Given the description of an element on the screen output the (x, y) to click on. 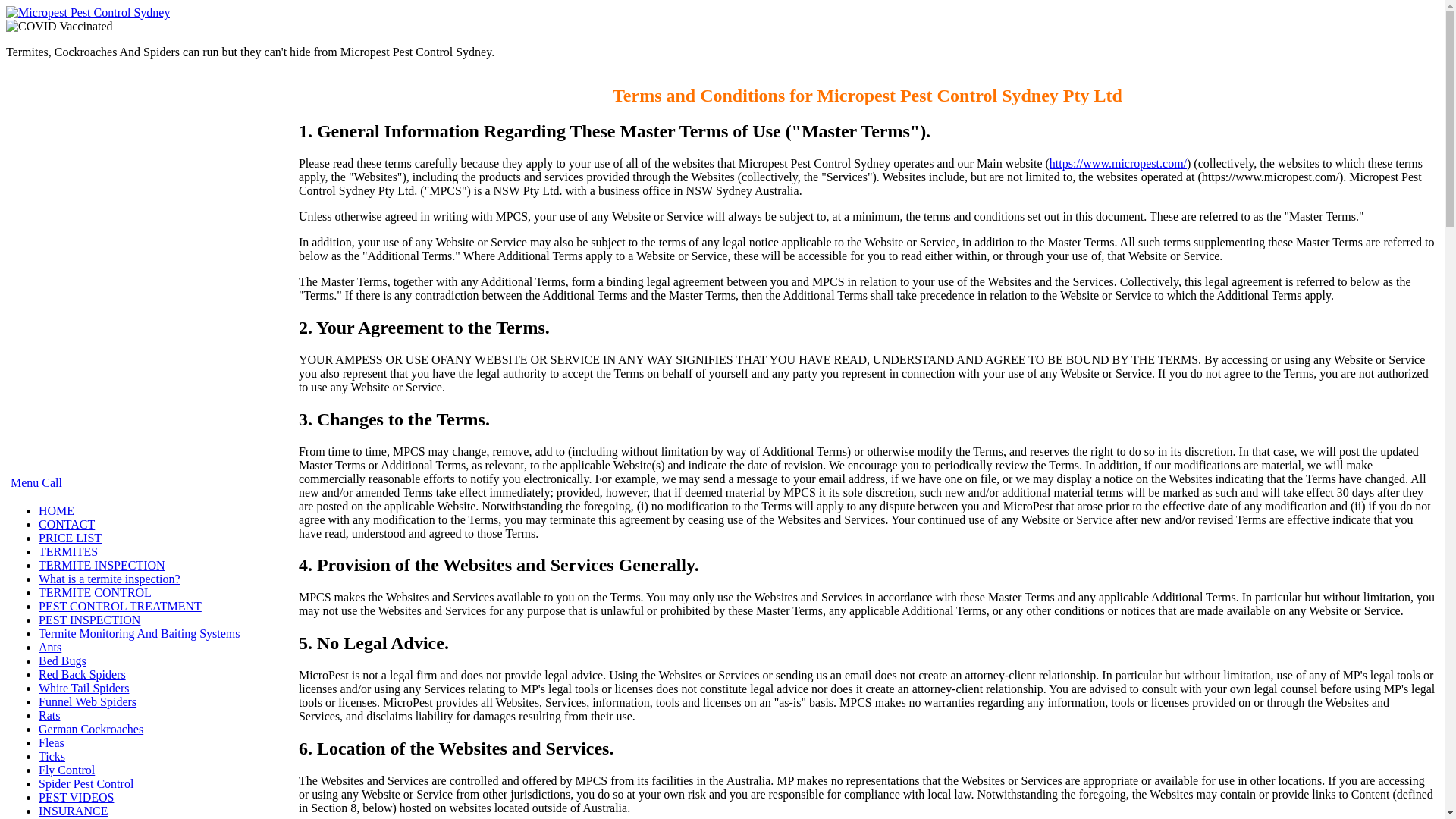
INSURANCE (73, 810)
Fly Control (66, 769)
PEST VIDEOS (76, 797)
What is a termite inspection? (109, 578)
Fleas (51, 742)
Call (52, 481)
Micropest Pest Control Sydney (87, 12)
PRICE LIST (70, 537)
HOME (56, 510)
Spider Pest Control (86, 783)
CONTACT (66, 523)
German Cockroaches (90, 728)
LICENCE (64, 818)
Rats (49, 715)
Bed Bugs (62, 660)
